Given the description of an element on the screen output the (x, y) to click on. 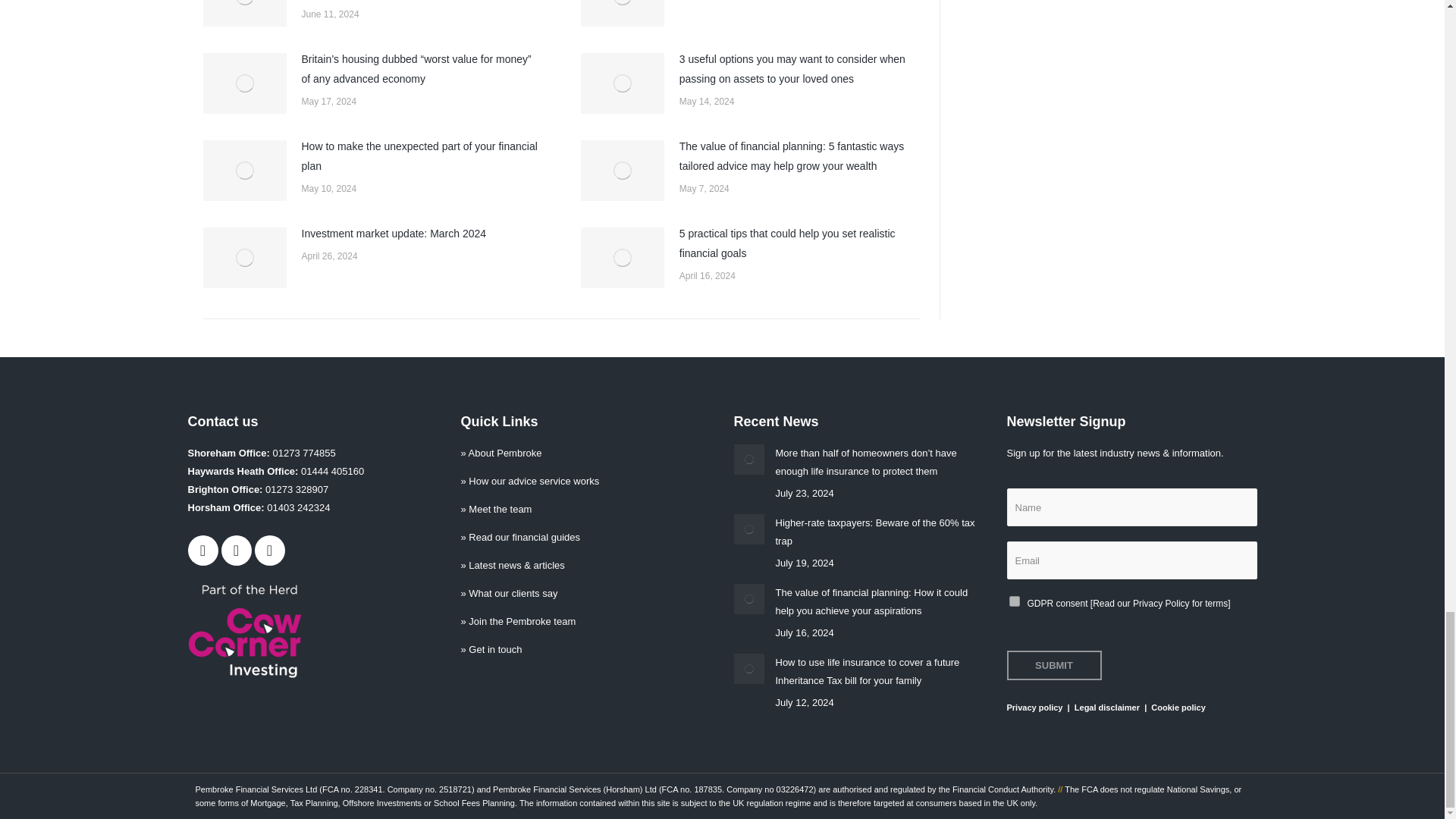
Linkedin (269, 550)
Facebook (202, 550)
X (236, 550)
